Given the description of an element on the screen output the (x, y) to click on. 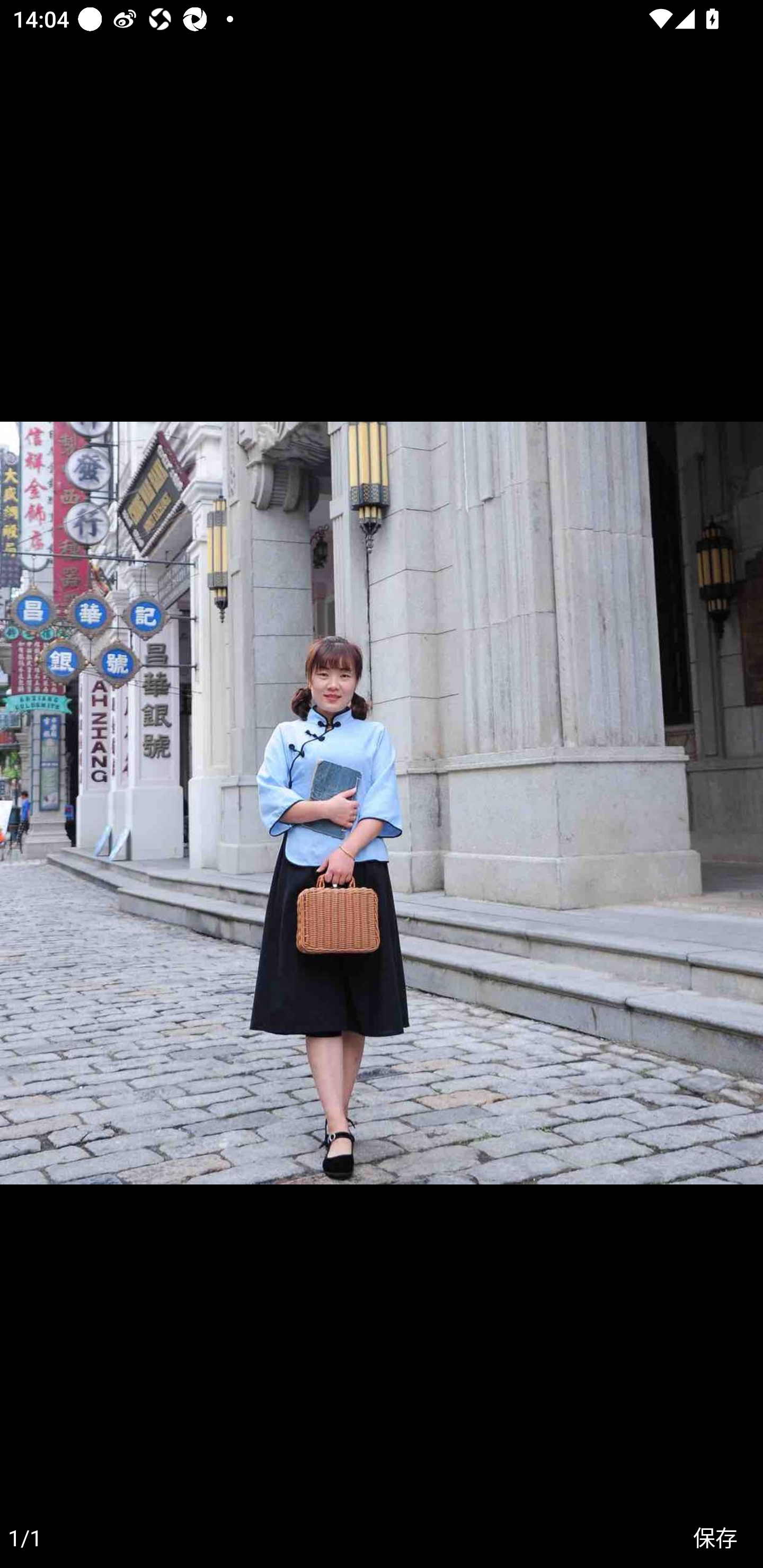
保存 (715, 1538)
